Given the description of an element on the screen output the (x, y) to click on. 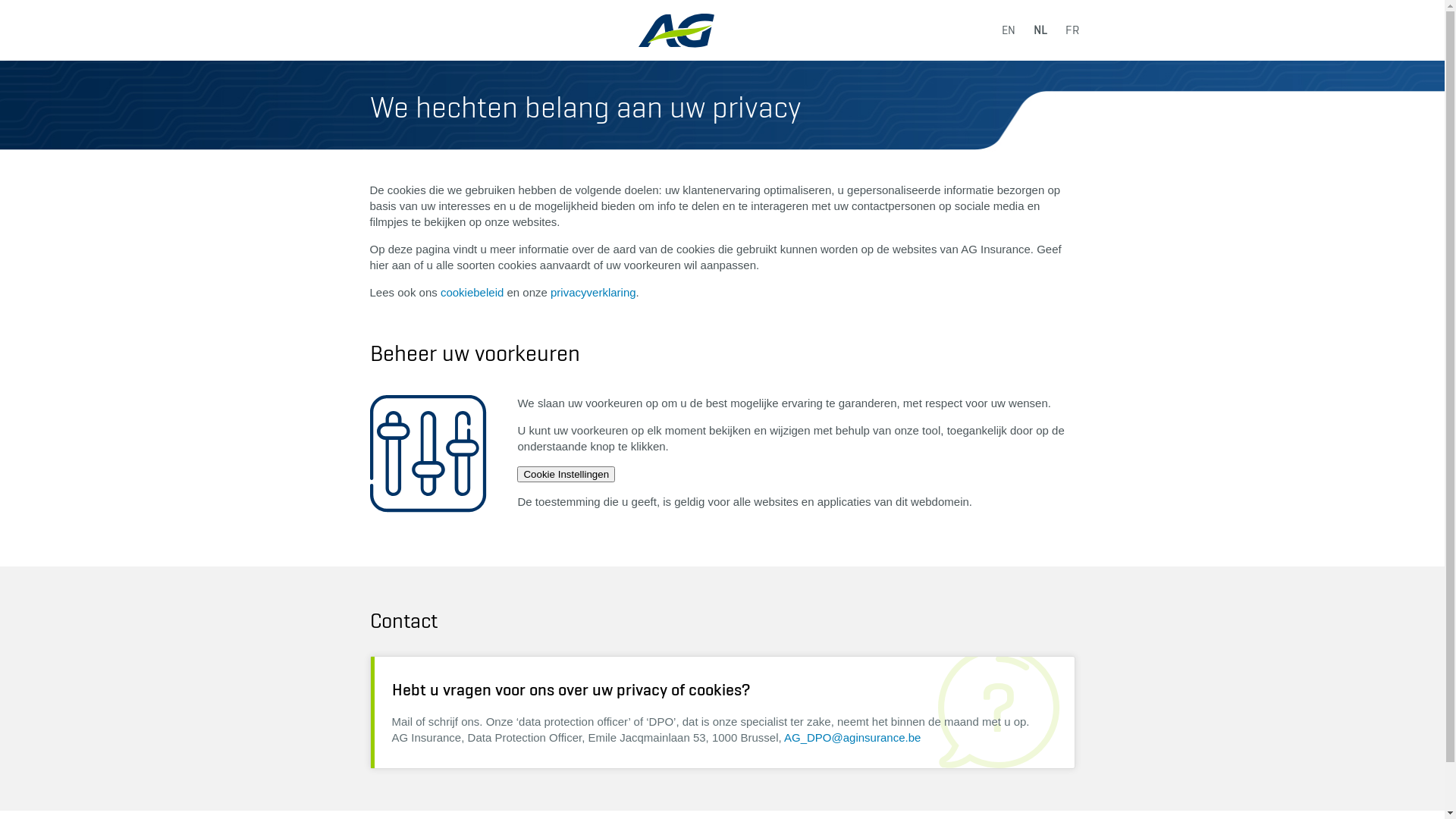
FR Element type: text (1071, 29)
NL Element type: text (1039, 29)
cookiebeleid Element type: text (471, 291)
AG_DPO@aginsurance.be Element type: text (852, 737)
Cookie Instellingen Element type: text (566, 474)
EN Element type: text (1007, 29)
privacyverklaring Element type: text (593, 291)
